Given the description of an element on the screen output the (x, y) to click on. 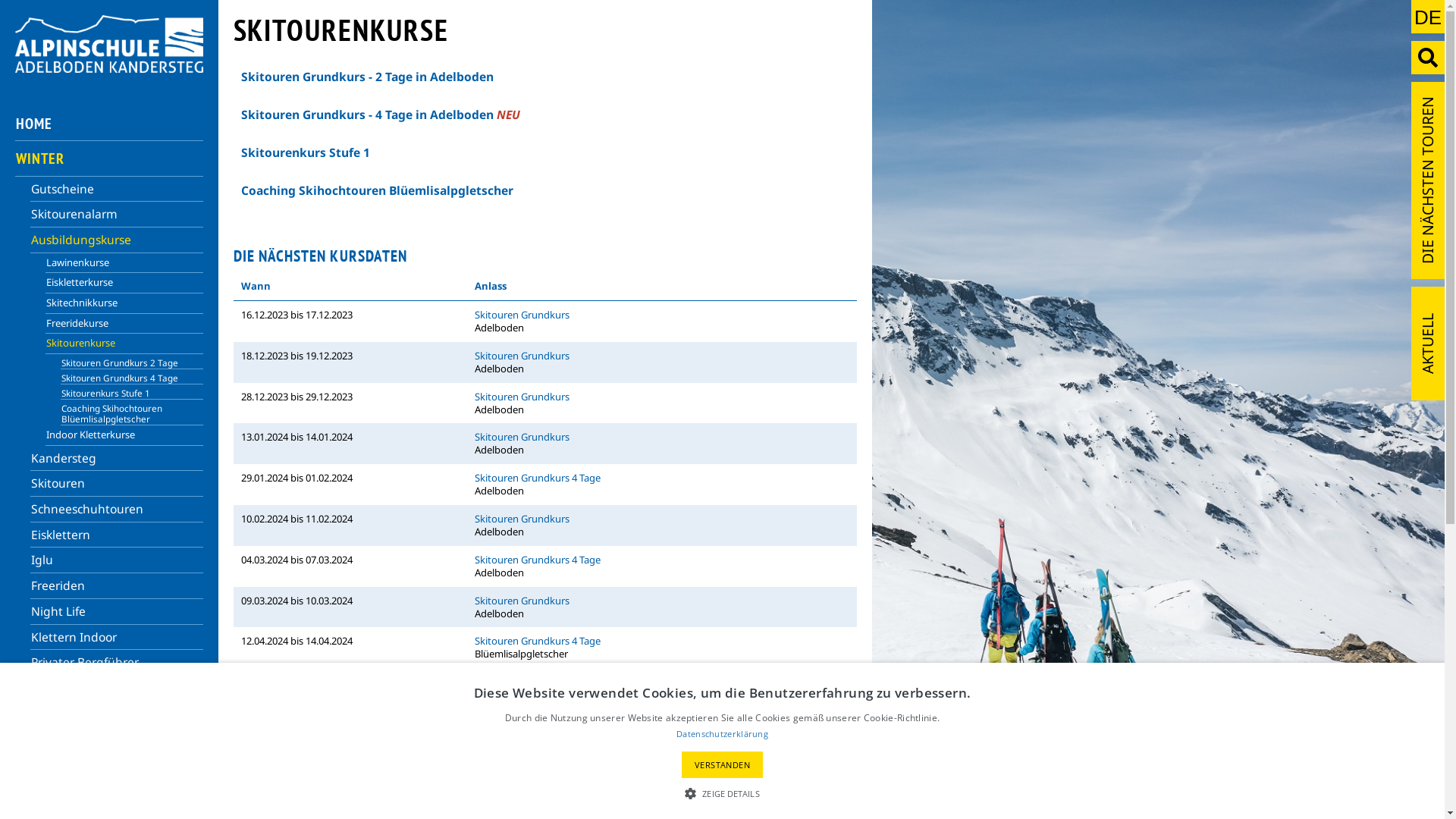
Skitouren Grundkurs 4 Tage Element type: text (537, 640)
Ausbildungskurse Element type: text (116, 240)
Skitouren Grundkurs 4 Tage Element type: text (537, 477)
Eisklettern Element type: text (116, 535)
Skitouren Grundkurs 4 Tage Element type: text (131, 376)
Skitouren Grundkurs - 2 Tage in Adelboden Element type: text (367, 76)
WINTER Element type: text (109, 158)
Lawinenkurse Element type: text (124, 263)
Freeridekurse Element type: text (124, 323)
Kandersteg Element type: text (116, 458)
HOME Element type: text (109, 123)
Skitouren Grundkurs Element type: text (521, 436)
Skitouren Grundkurs 4 Tage Element type: text (537, 681)
Skitouren Grundkurs Element type: text (521, 518)
Skitourenkurs Stufe 1 Element type: text (305, 152)
Indoor Kletterkurse Element type: text (124, 435)
Skitourenkurse Element type: text (124, 343)
Eiskletterkurse Element type: text (124, 283)
Skitouren Grundkurs 4 Tage Element type: text (537, 559)
Schneeschuhtouren Element type: text (116, 509)
Events Element type: text (116, 739)
Night Life Element type: text (116, 611)
Sponsoren Element type: text (247, 794)
Winter Wochenprogramm Element type: text (116, 714)
Skitouren Element type: text (116, 483)
Skitouren Grundkurs Element type: text (521, 314)
Skitouren Grundkurs Element type: text (521, 600)
Skitouren Grundkurs - 4 Tage in Adelboden  Element type: text (368, 114)
Klettern Indoor Element type: text (116, 637)
Freeriden Element type: text (116, 586)
Skitourenkurs Stufe 1 Element type: text (131, 391)
Skitouren Grundkurs 2 Tage Element type: text (131, 361)
Skitechnikkurse Element type: text (124, 303)
Skitouren Grundkurs Element type: text (521, 355)
SOMMER Element type: text (109, 795)
Gutscheine Element type: text (116, 189)
Skitouren Grundkurs Element type: text (521, 396)
Skitourenalarm Element type: text (116, 214)
Iglu Element type: text (116, 560)
